Given the description of an element on the screen output the (x, y) to click on. 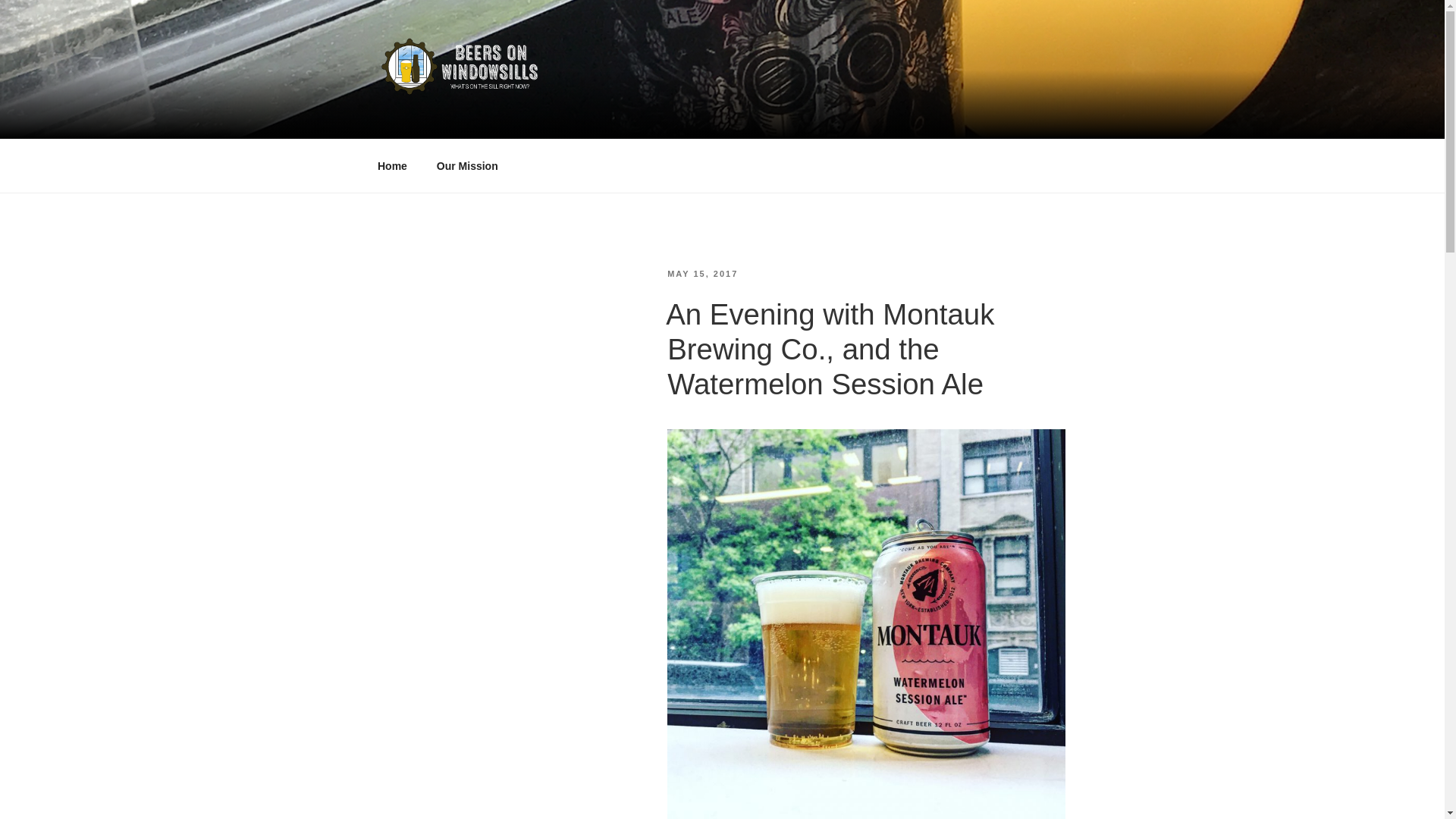
Home (392, 165)
Our Mission (467, 165)
BEERS ON WINDOWSILLS (574, 119)
MAY 15, 2017 (702, 273)
